Given the description of an element on the screen output the (x, y) to click on. 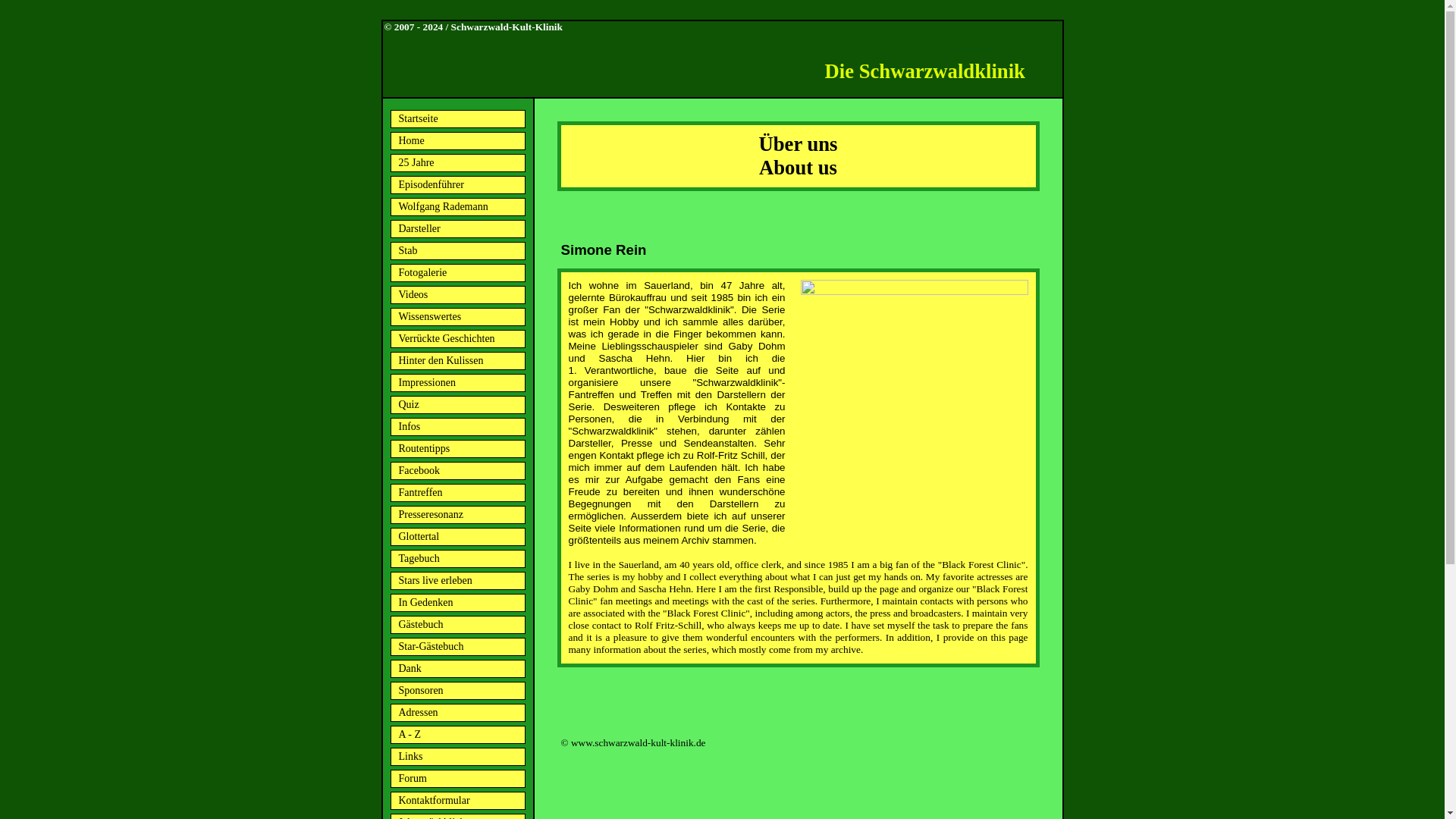
A - Z (457, 734)
Stab (457, 250)
Kontaktformular (457, 800)
Videos (457, 294)
Facebook (457, 470)
Adressen (457, 712)
Quiz (457, 404)
Dank (457, 669)
Sponsoren (457, 690)
Wissenswertes (457, 316)
